Given the description of an element on the screen output the (x, y) to click on. 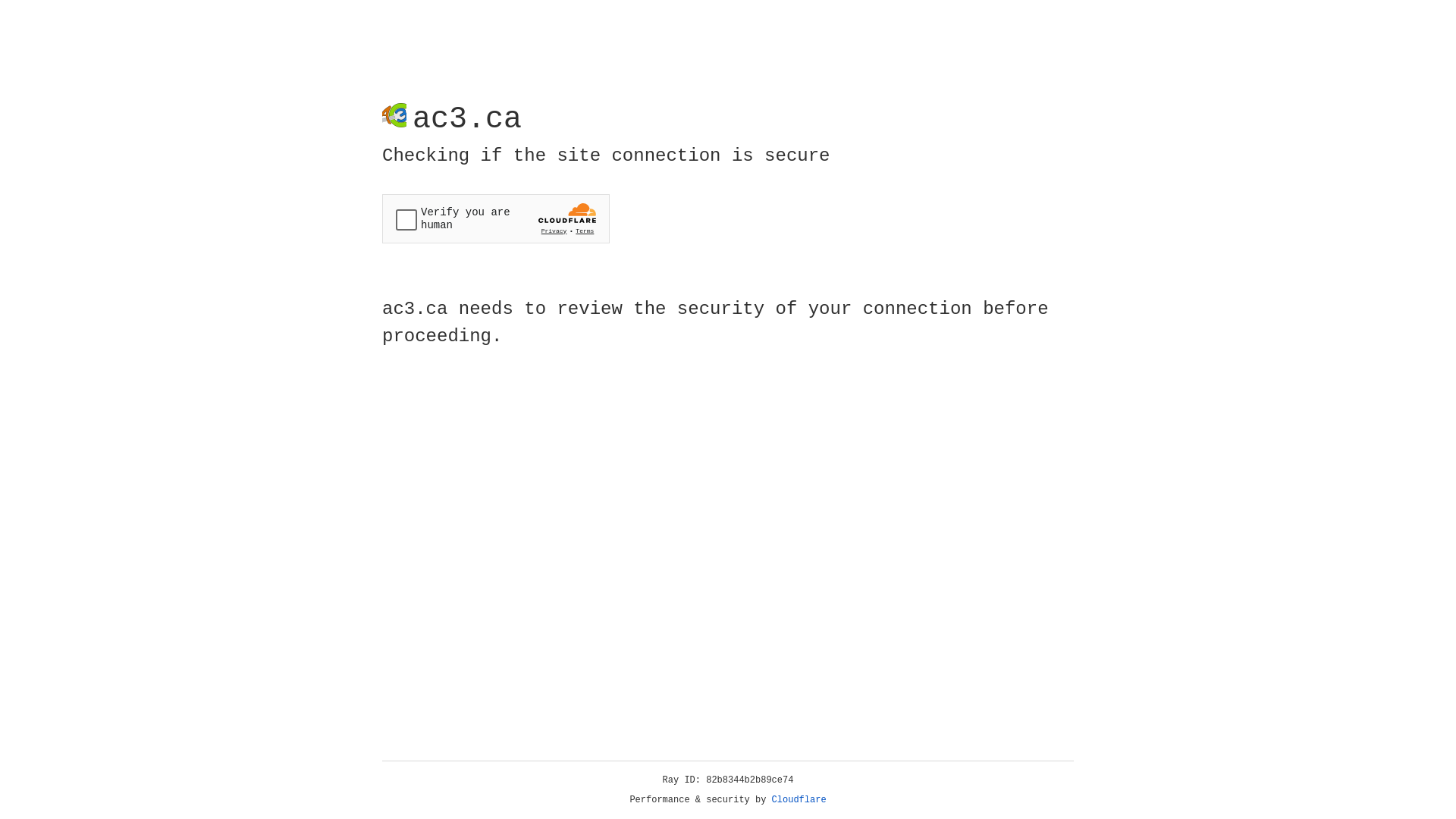
Cloudflare Element type: text (798, 799)
Widget containing a Cloudflare security challenge Element type: hover (495, 218)
